Given the description of an element on the screen output the (x, y) to click on. 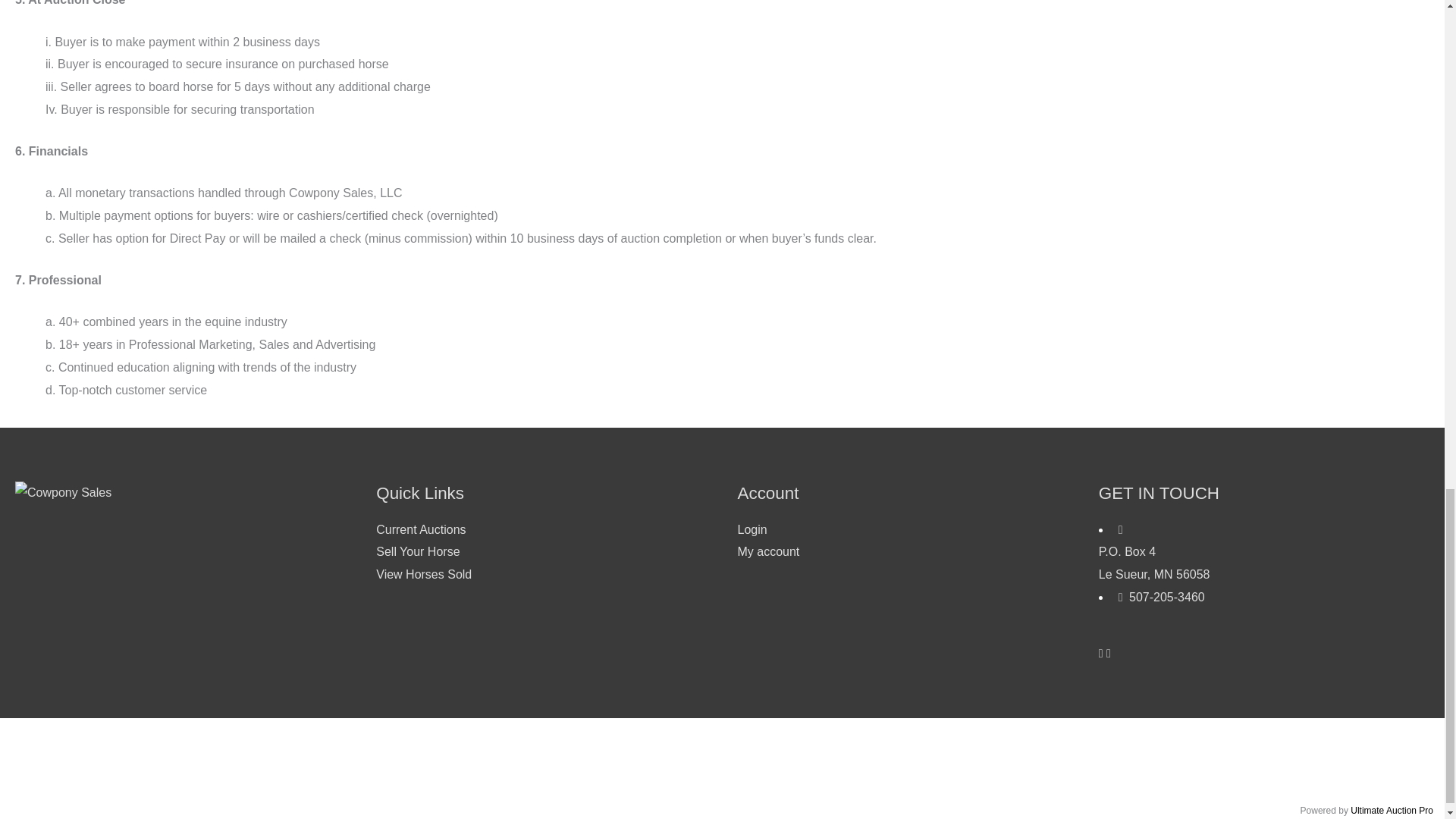
Sell Your Horse (417, 551)
Current Auctions (420, 529)
Login (1264, 554)
507-205-3460 (751, 529)
My account (1160, 596)
View Horses Sold (767, 551)
Ultimate Auction Pro (423, 574)
